Given the description of an element on the screen output the (x, y) to click on. 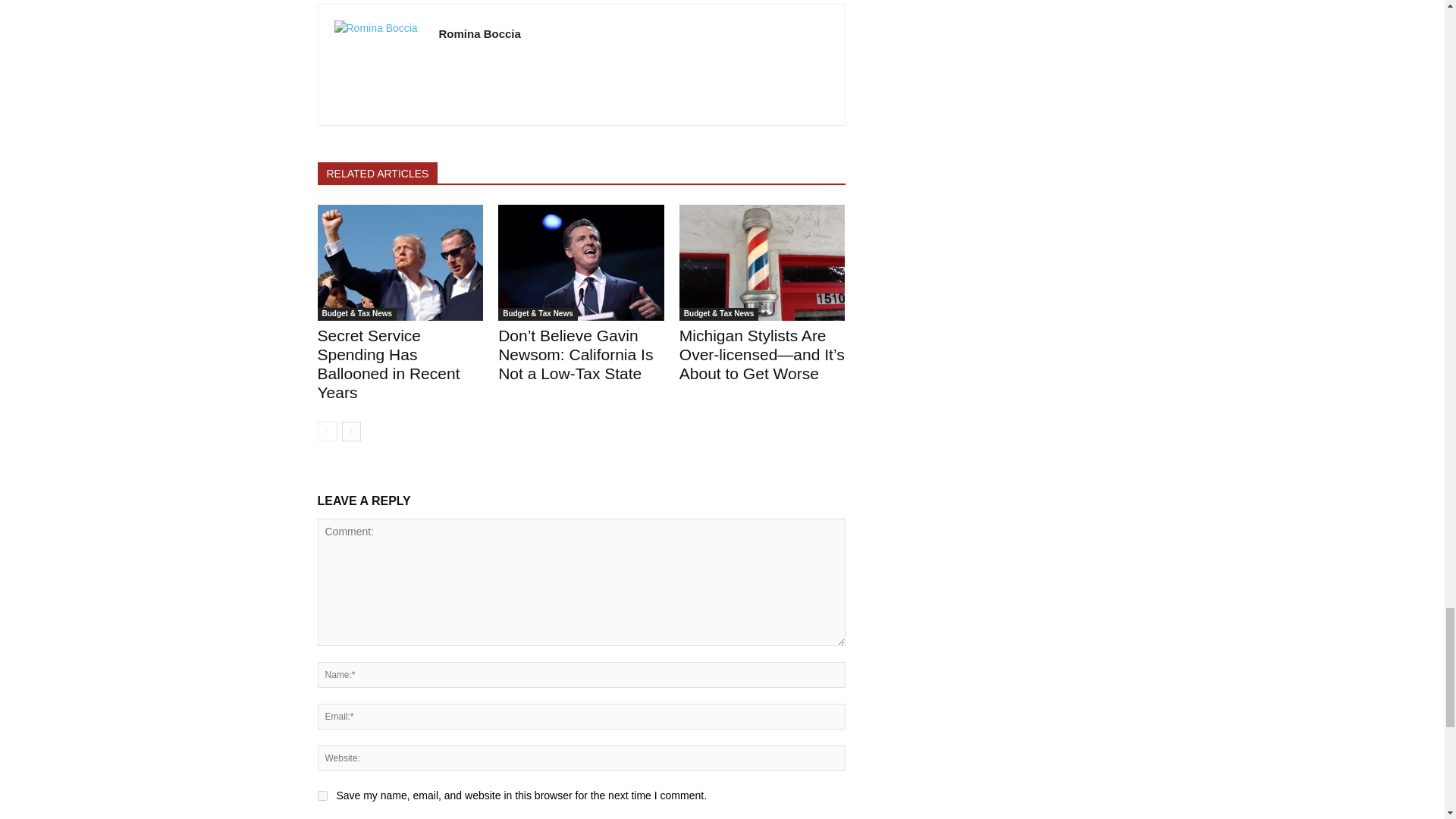
yes (321, 795)
Secret Service Spending Has Ballooned in Recent Years (400, 262)
Romina Boccia (377, 64)
